Given the description of an element on the screen output the (x, y) to click on. 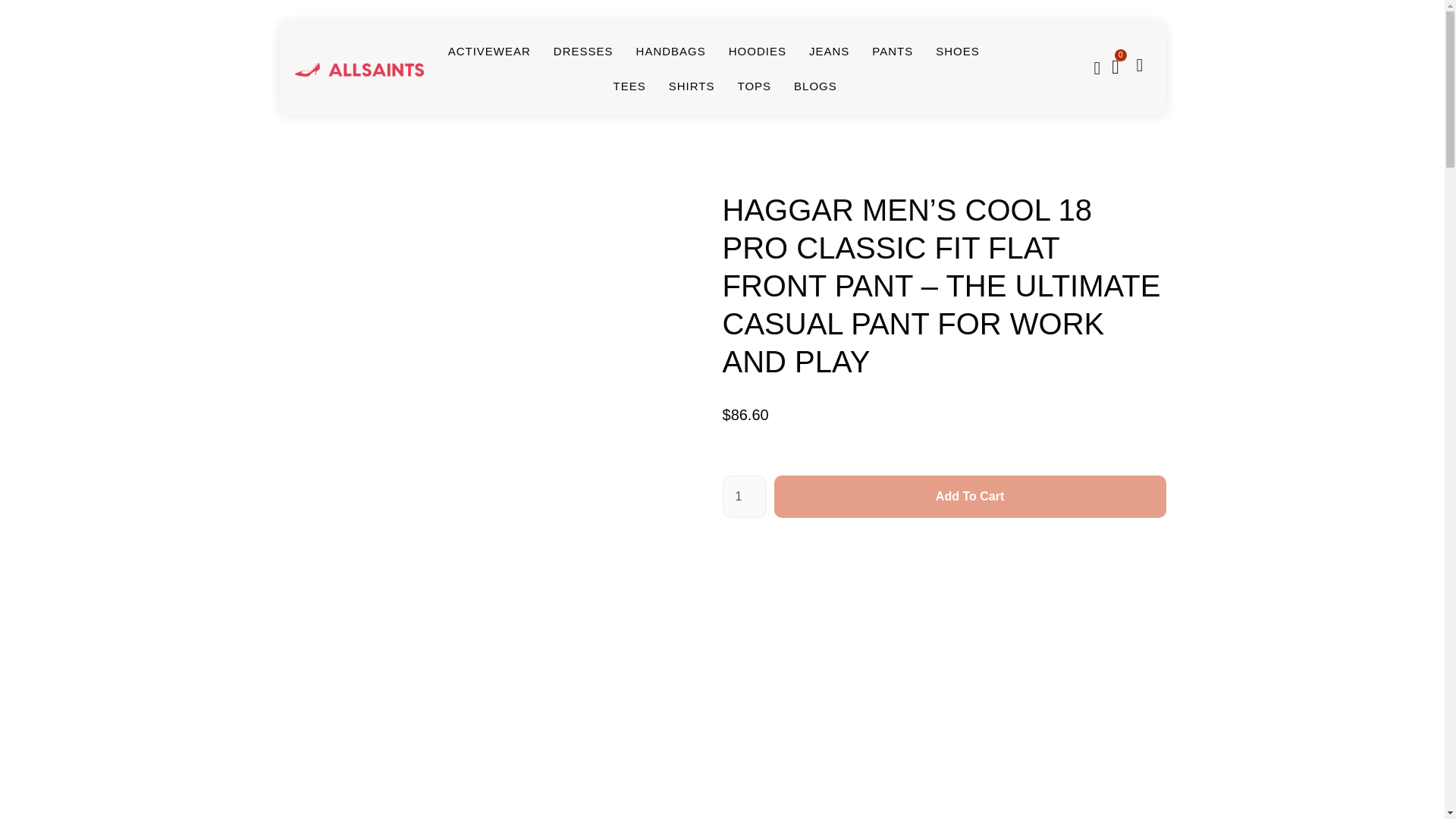
ACTIVEWEAR (489, 51)
1 (743, 496)
BLOGS (815, 86)
JEANS (828, 51)
DRESSES (582, 51)
TOPS (753, 86)
SHIRTS (691, 86)
HANDBAGS (671, 51)
HOODIES (757, 51)
SHOES (957, 51)
